Given the description of an element on the screen output the (x, y) to click on. 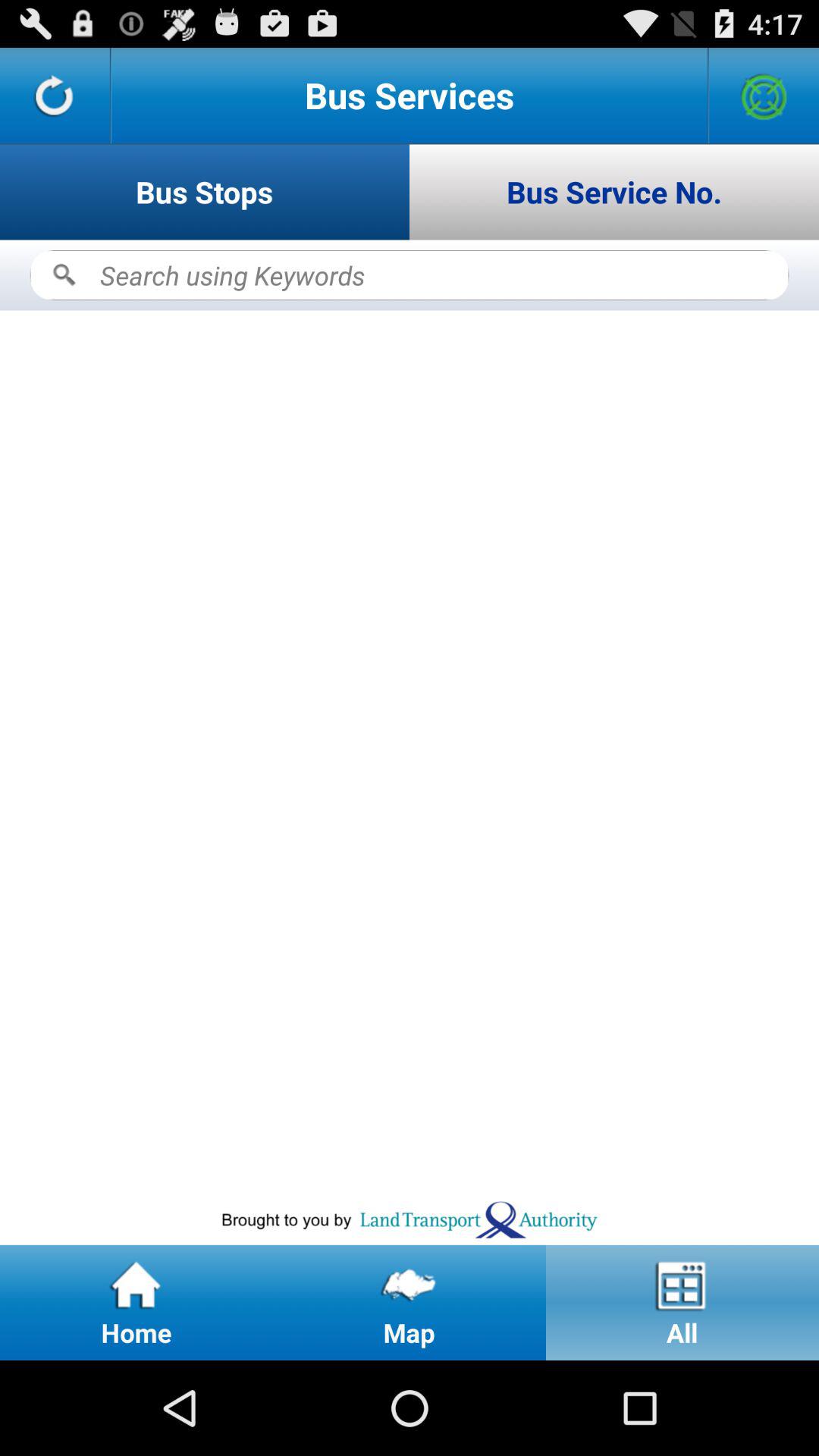
open location (764, 95)
